Given the description of an element on the screen output the (x, y) to click on. 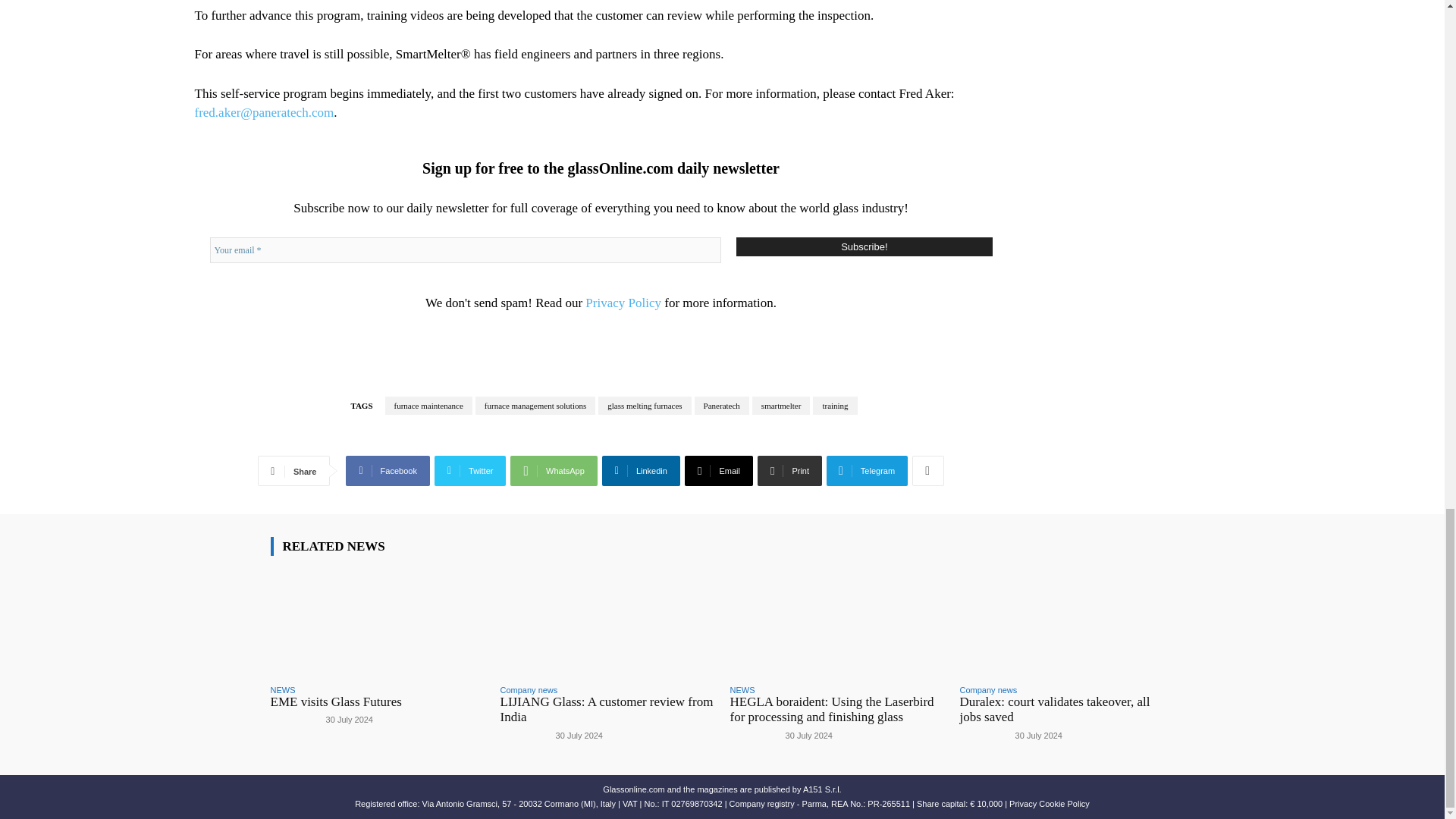
Email (718, 470)
Linkedin (640, 470)
Your email (464, 249)
Facebook (387, 470)
WhatsApp (553, 470)
Twitter (469, 470)
Subscribe! (863, 246)
Print (789, 470)
